Given the description of an element on the screen output the (x, y) to click on. 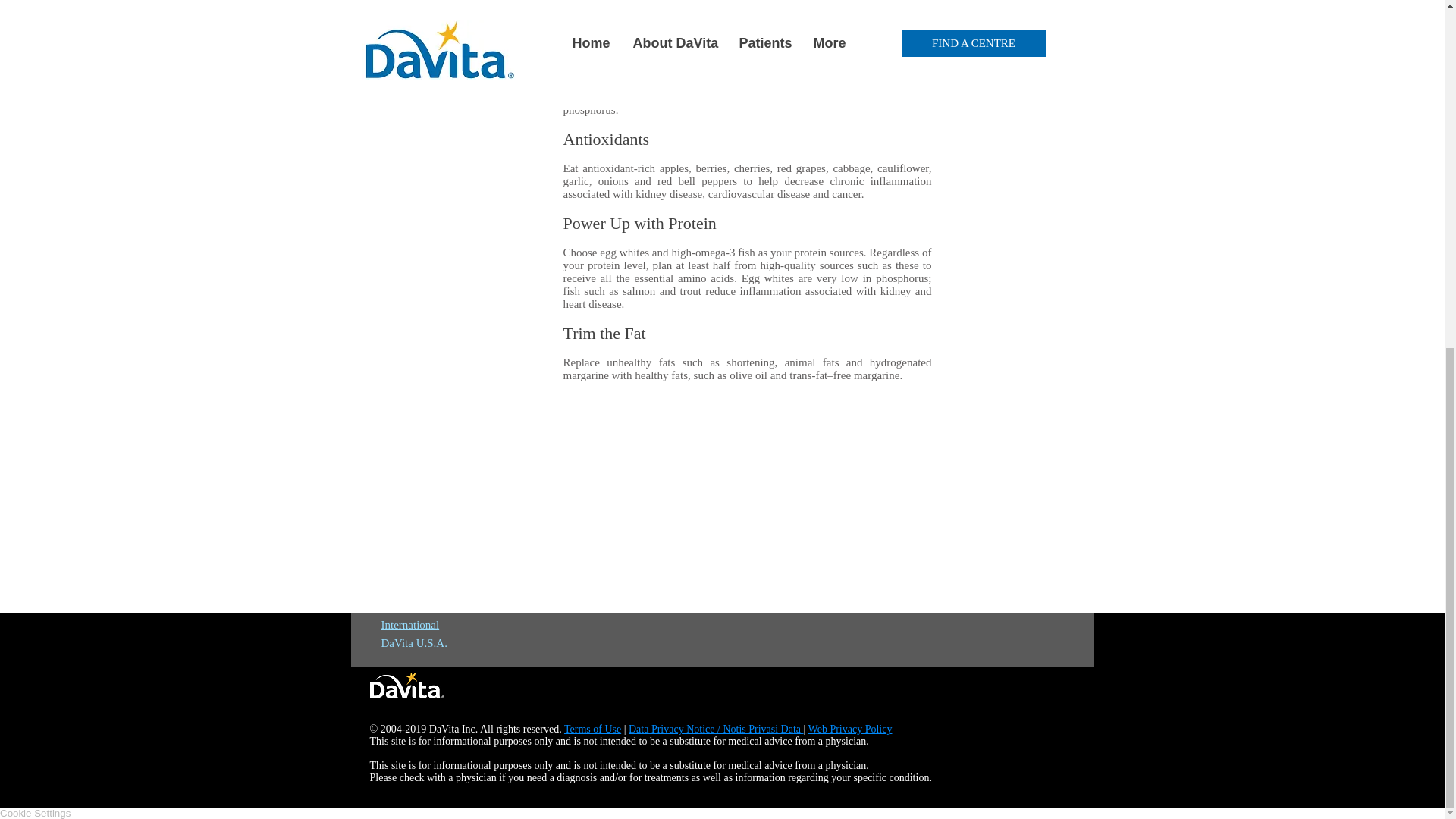
DaVita U.S.A. (413, 643)
Terms of Use (592, 728)
International (409, 624)
Web Privacy Policy (850, 728)
